Given the description of an element on the screen output the (x, y) to click on. 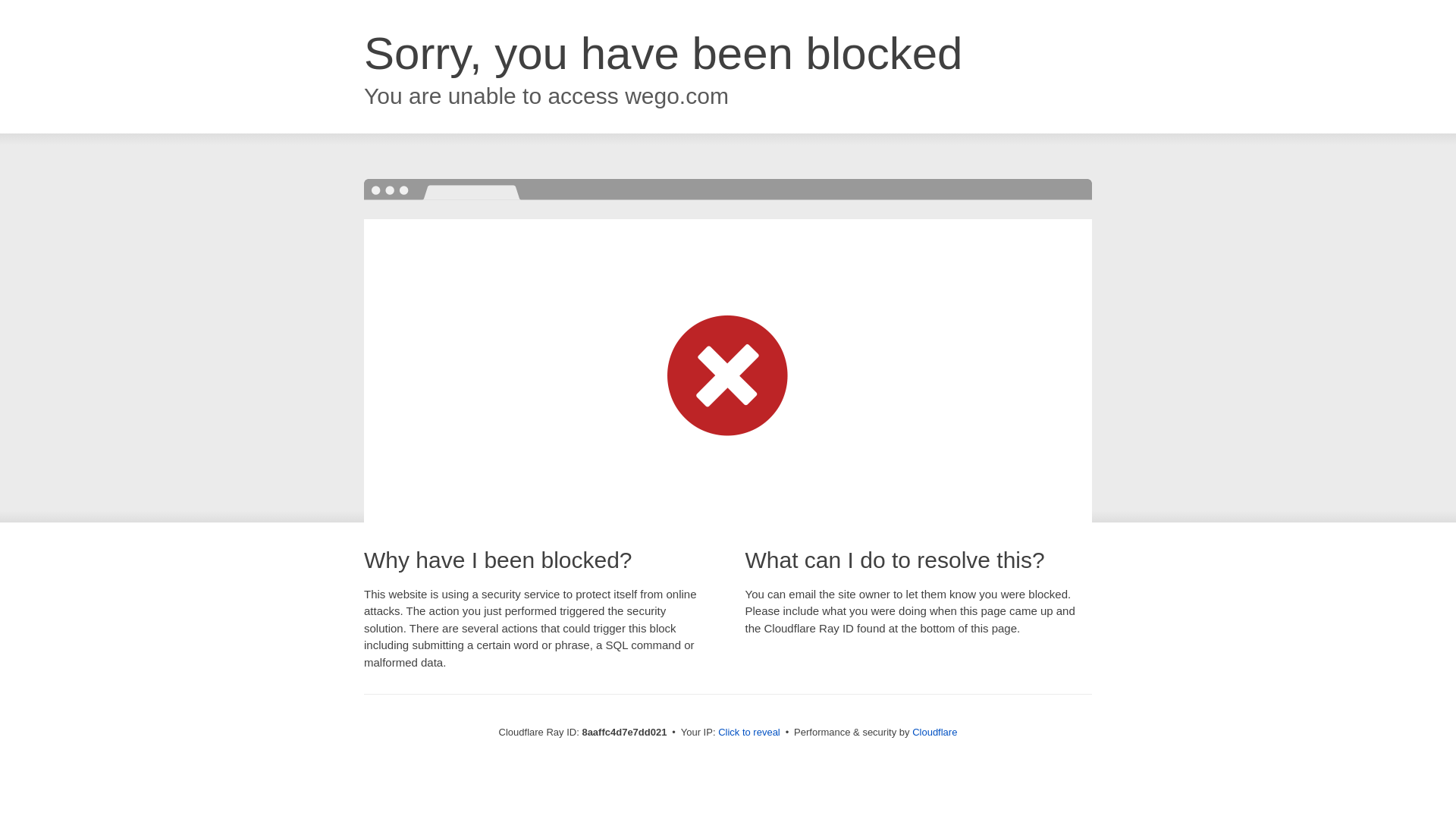
Cloudflare (934, 731)
Click to reveal (748, 732)
